Given the description of an element on the screen output the (x, y) to click on. 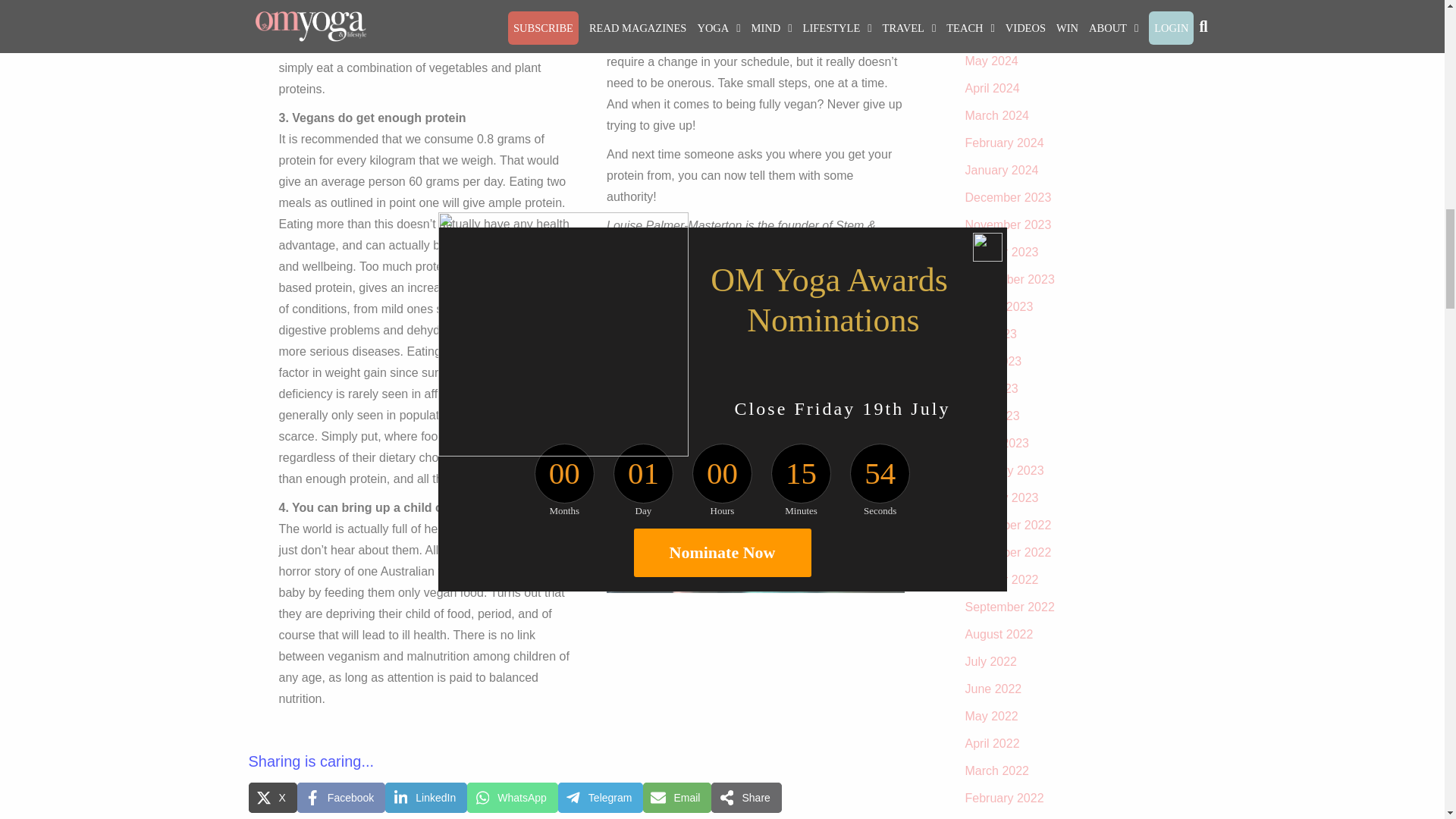
Healthy,Dinner,Or,Lunch.,Curly,Woman,In,T-shirt,And,Jeans (755, 444)
